Given the description of an element on the screen output the (x, y) to click on. 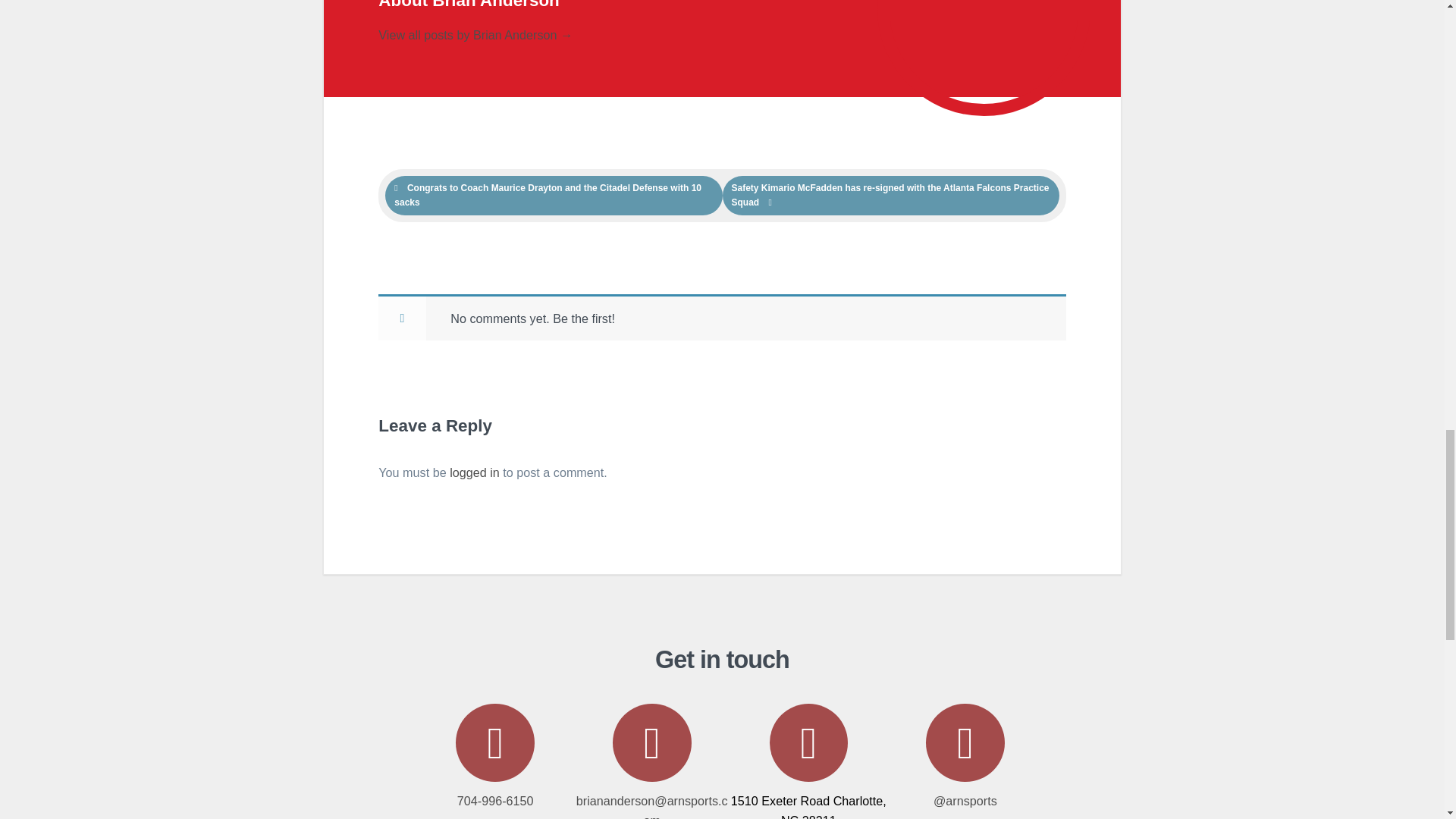
logged in (474, 472)
704-996-6150 (494, 755)
